Given the description of an element on the screen output the (x, y) to click on. 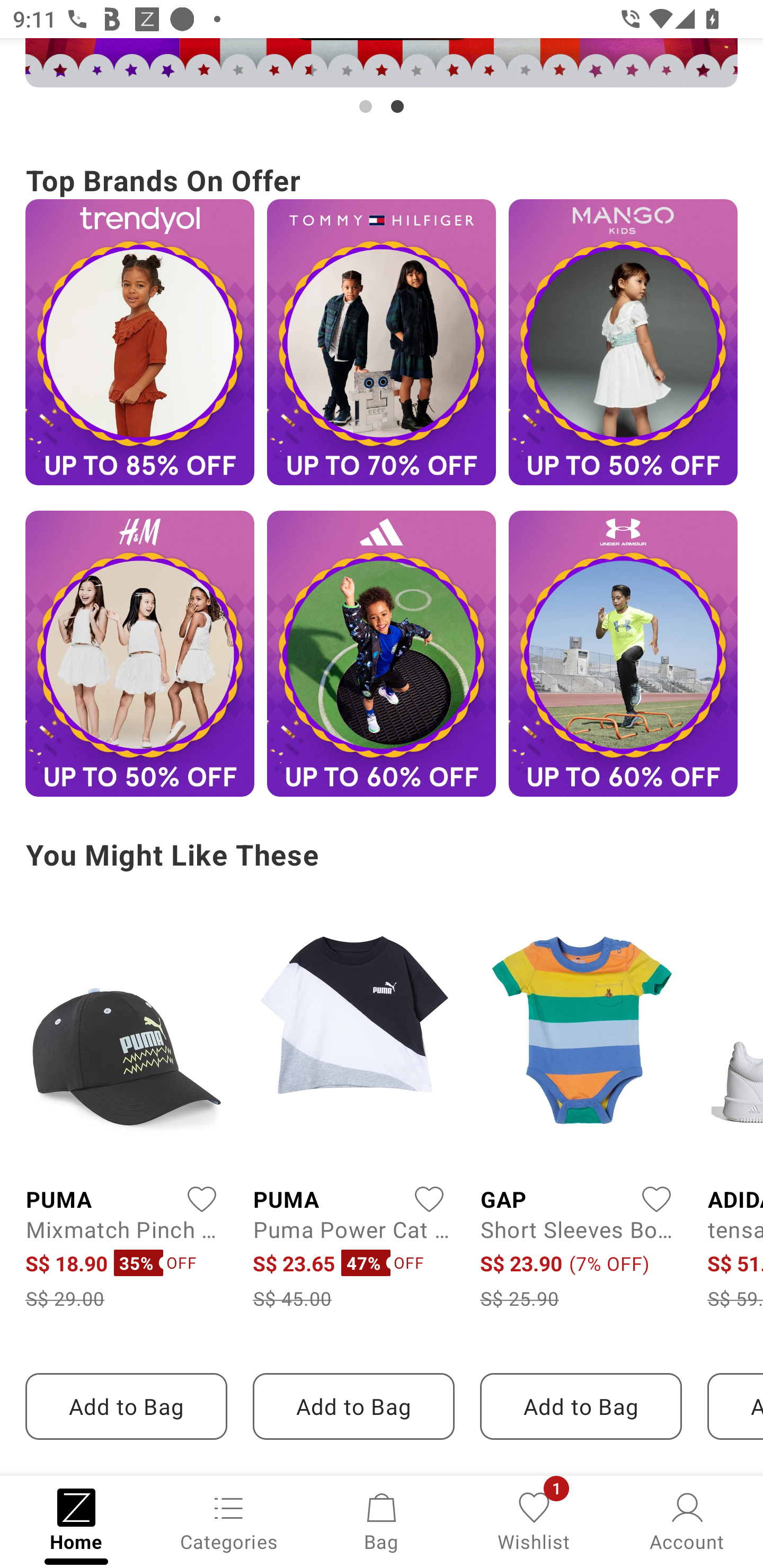
Campaign banner (139, 341)
Campaign banner (381, 341)
Campaign banner (622, 341)
Campaign banner (139, 653)
Campaign banner (381, 653)
Campaign banner (622, 653)
Add to Bag (126, 1406)
Add to Bag (353, 1406)
Add to Bag (580, 1406)
Categories (228, 1519)
Bag (381, 1519)
Wishlist, 1 new notification Wishlist (533, 1519)
Account (686, 1519)
